Given the description of an element on the screen output the (x, y) to click on. 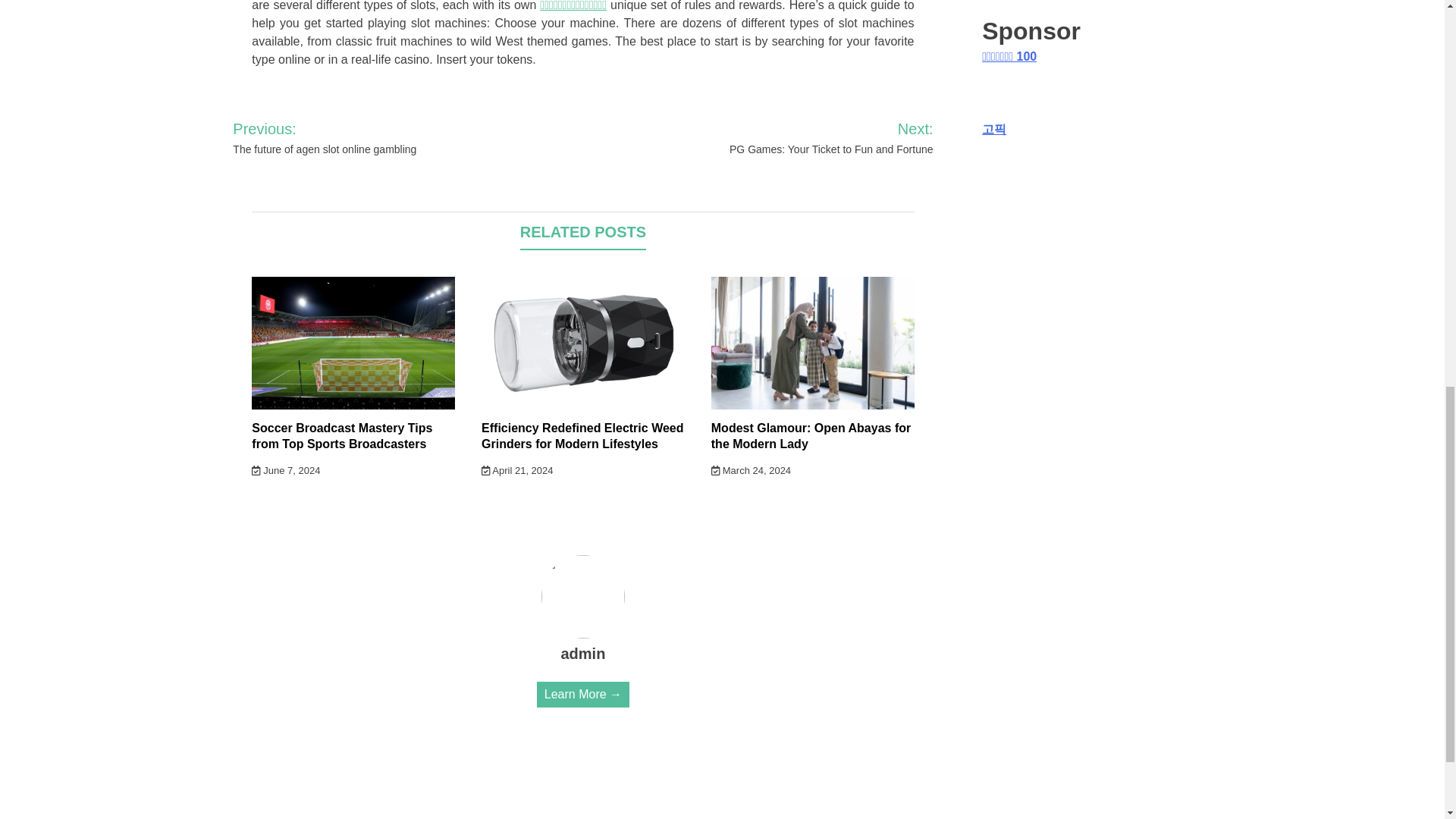
March 24, 2024 (750, 470)
April 21, 2024 (517, 470)
Previous: The future of agen slot online gambling (357, 137)
June 7, 2024 (285, 470)
Next: PG Games: Your Ticket to Fun and Fortune (811, 137)
Soccer Broadcast Mastery Tips from Top Sports Broadcasters (341, 435)
Modest Glamour: Open Abayas for the Modern Lady (811, 435)
